Given the description of an element on the screen output the (x, y) to click on. 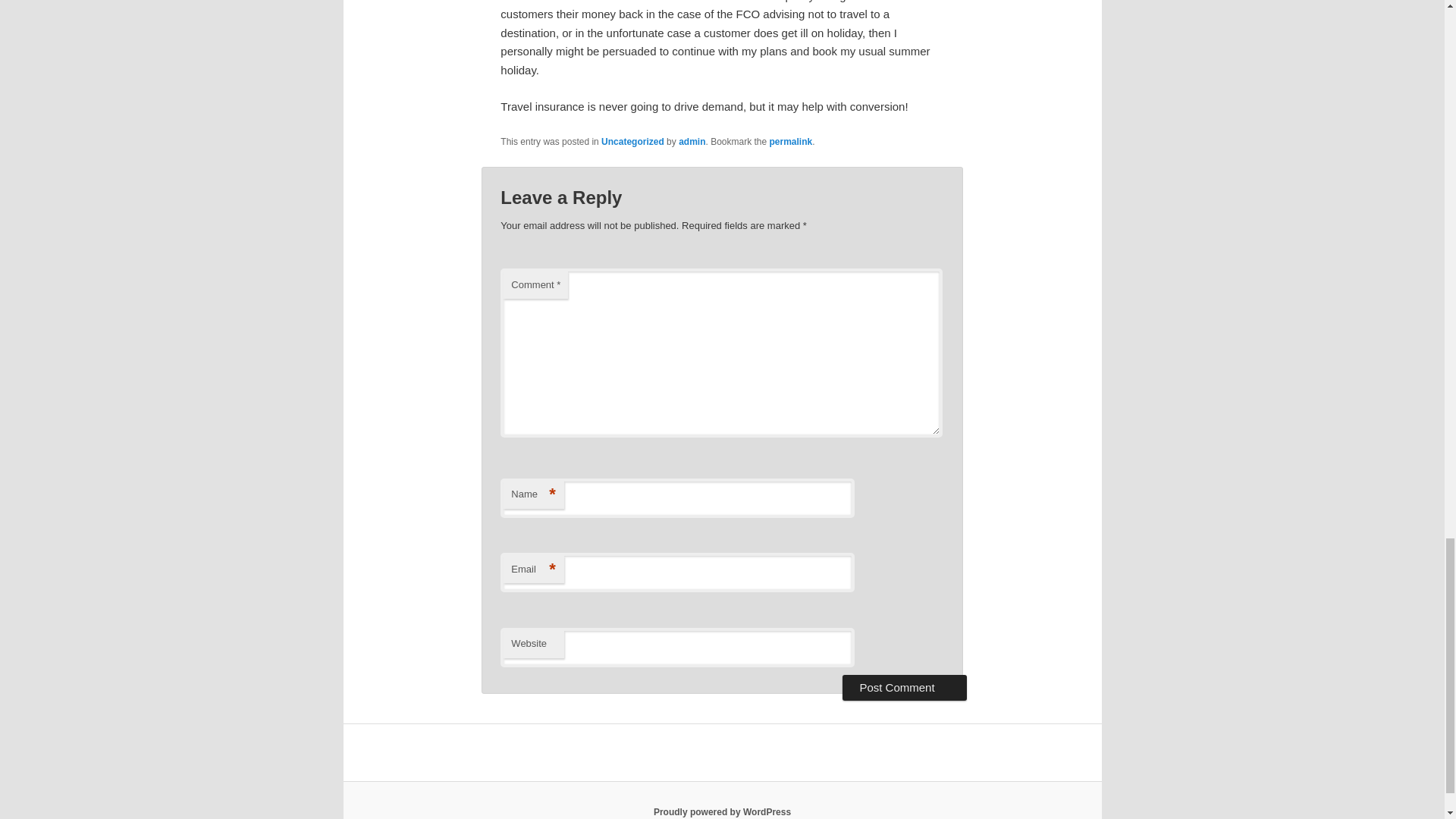
Proudly powered by WordPress (721, 811)
Uncategorized (632, 141)
Post Comment (904, 687)
admin (691, 141)
permalink (791, 141)
Post Comment (904, 687)
Semantic Personal Publishing Platform (721, 811)
